Given the description of an element on the screen output the (x, y) to click on. 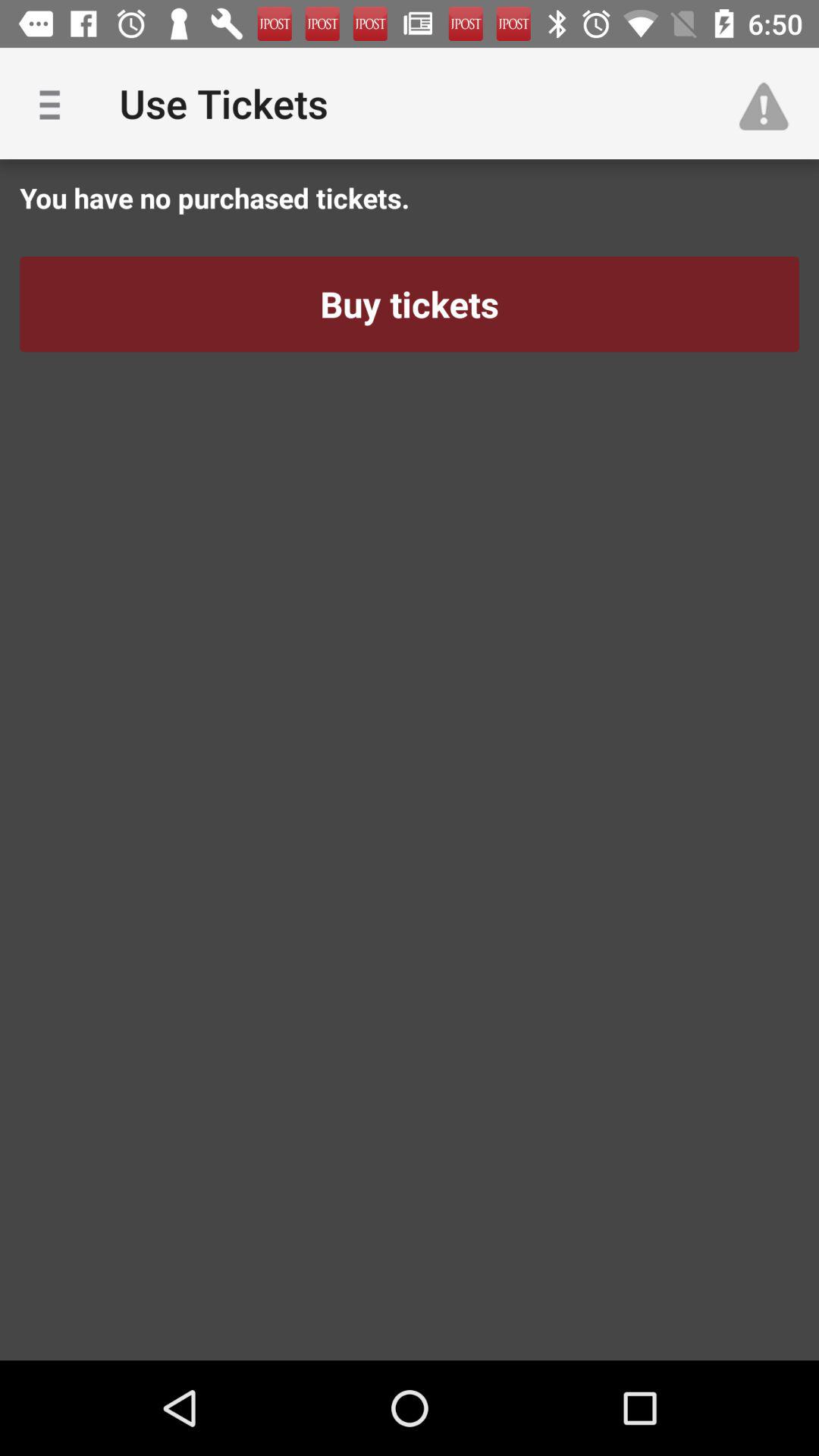
click the item above you have no item (771, 103)
